Given the description of an element on the screen output the (x, y) to click on. 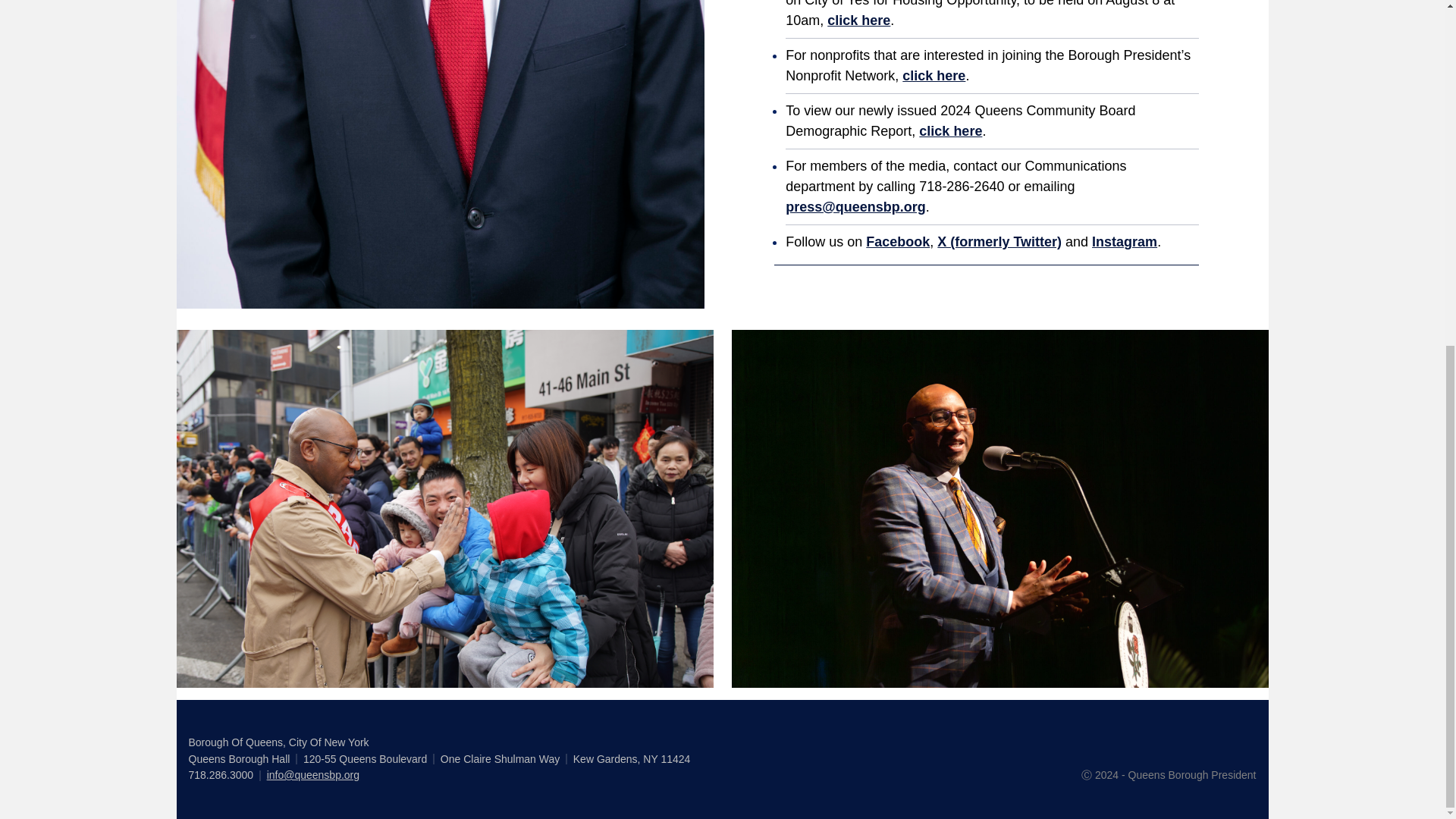
Instagram (1124, 241)
click here (858, 20)
Facebook (898, 241)
click here (933, 75)
click here (949, 130)
